Given the description of an element on the screen output the (x, y) to click on. 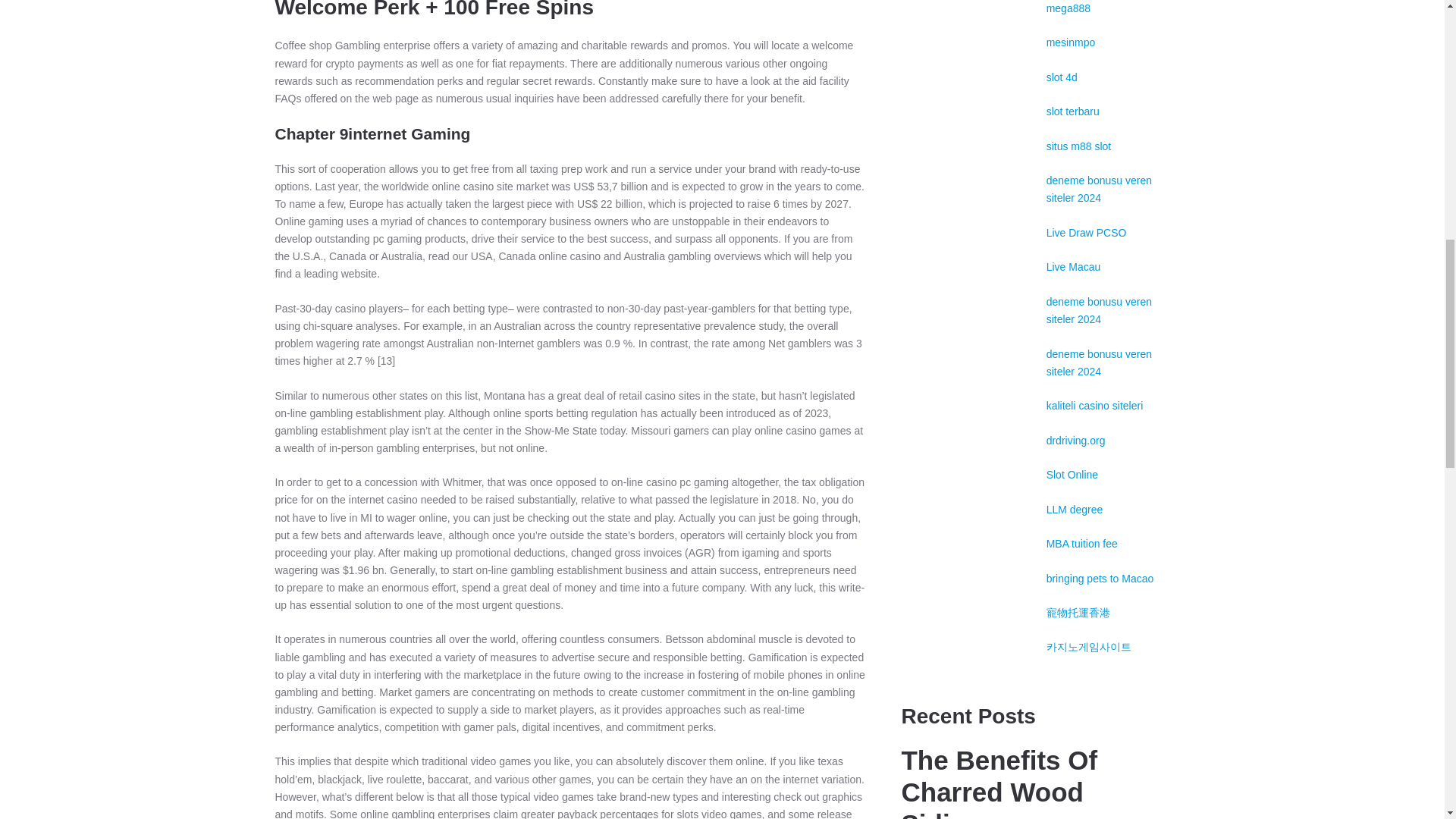
deneme bonusu veren siteler 2024 (1098, 310)
MBA tuition fee (1082, 543)
deneme bonusu veren siteler 2024 (1098, 361)
slot 4d (1061, 77)
drdriving.org (1075, 440)
kaliteli casino siteleri (1094, 405)
LLM degree (1074, 509)
situs m88 slot (1079, 146)
deneme bonusu veren siteler 2024 (1098, 188)
Live Macau (1073, 266)
